Given the description of an element on the screen output the (x, y) to click on. 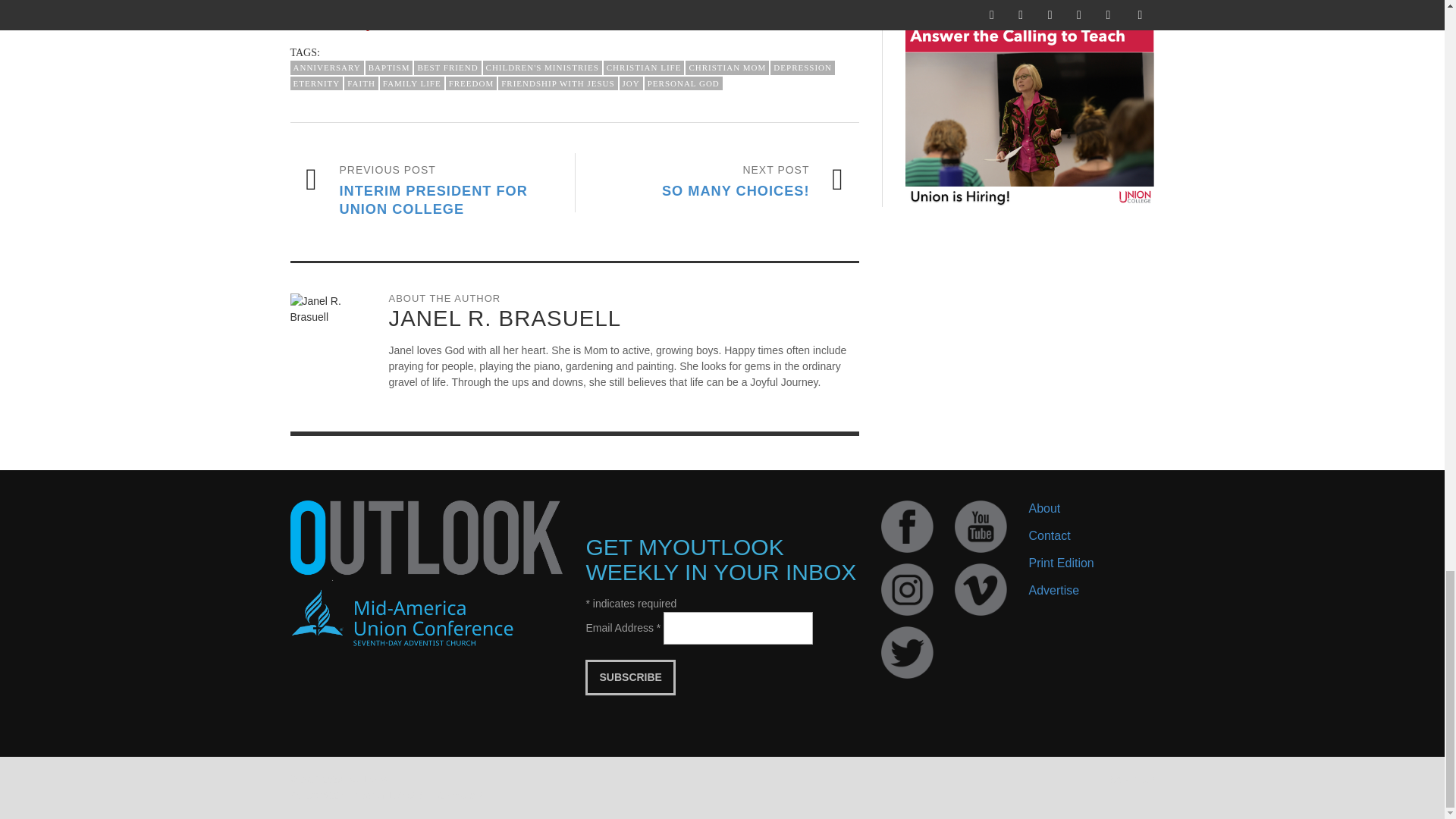
Subscribe (630, 677)
